Given the description of an element on the screen output the (x, y) to click on. 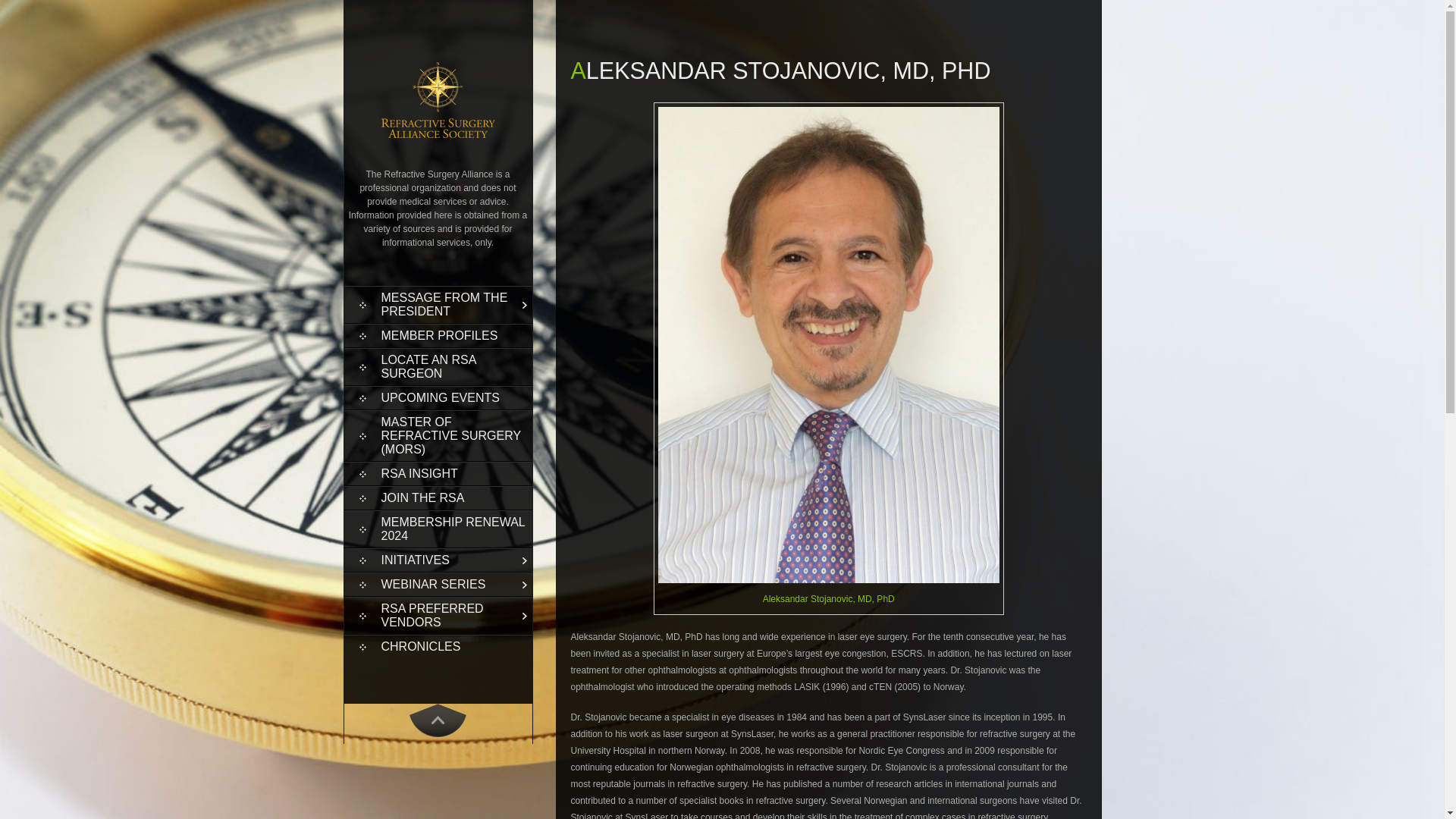
CHRONICLES (437, 646)
WEBINAR SERIES (437, 584)
MESSAGE FROM THE PRESIDENT (437, 304)
JOIN THE RSA (437, 497)
RSA PREFERRED VENDORS (437, 615)
INITIATIVES (437, 559)
Aleksandar Stojanovic, MD, PhD (828, 598)
LOCATE AN RSA SURGEON (437, 366)
Synslaser Kirurgi AS (828, 598)
MEMBERSHIP RENEWAL 2024 (437, 529)
RSA INSIGHT (437, 473)
MEMBER PROFILES (437, 335)
UPCOMING EVENTS (437, 397)
